Given the description of an element on the screen output the (x, y) to click on. 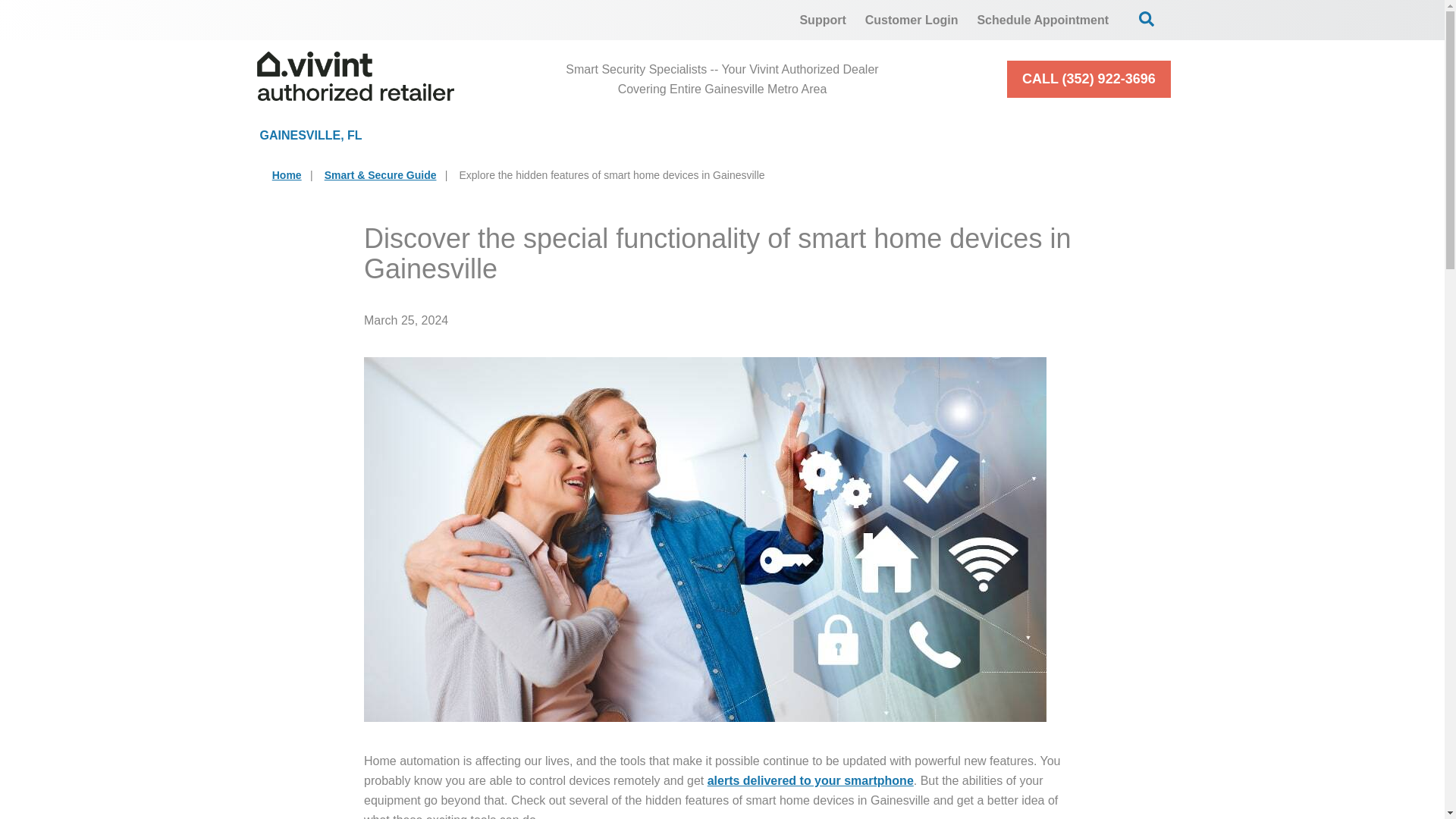
Expand Menu (702, 135)
Home (286, 174)
Expand Menu (946, 135)
Customer Login (911, 20)
Cameras (669, 135)
Smart Home Automation (868, 135)
alerts delivered to your smartphone (810, 780)
Open Search (1146, 18)
Support (822, 20)
Home Security (499, 135)
Expand Menu (548, 135)
Schedule Appointment (1042, 20)
Notifications sent to your smartphone (810, 780)
